Given the description of an element on the screen output the (x, y) to click on. 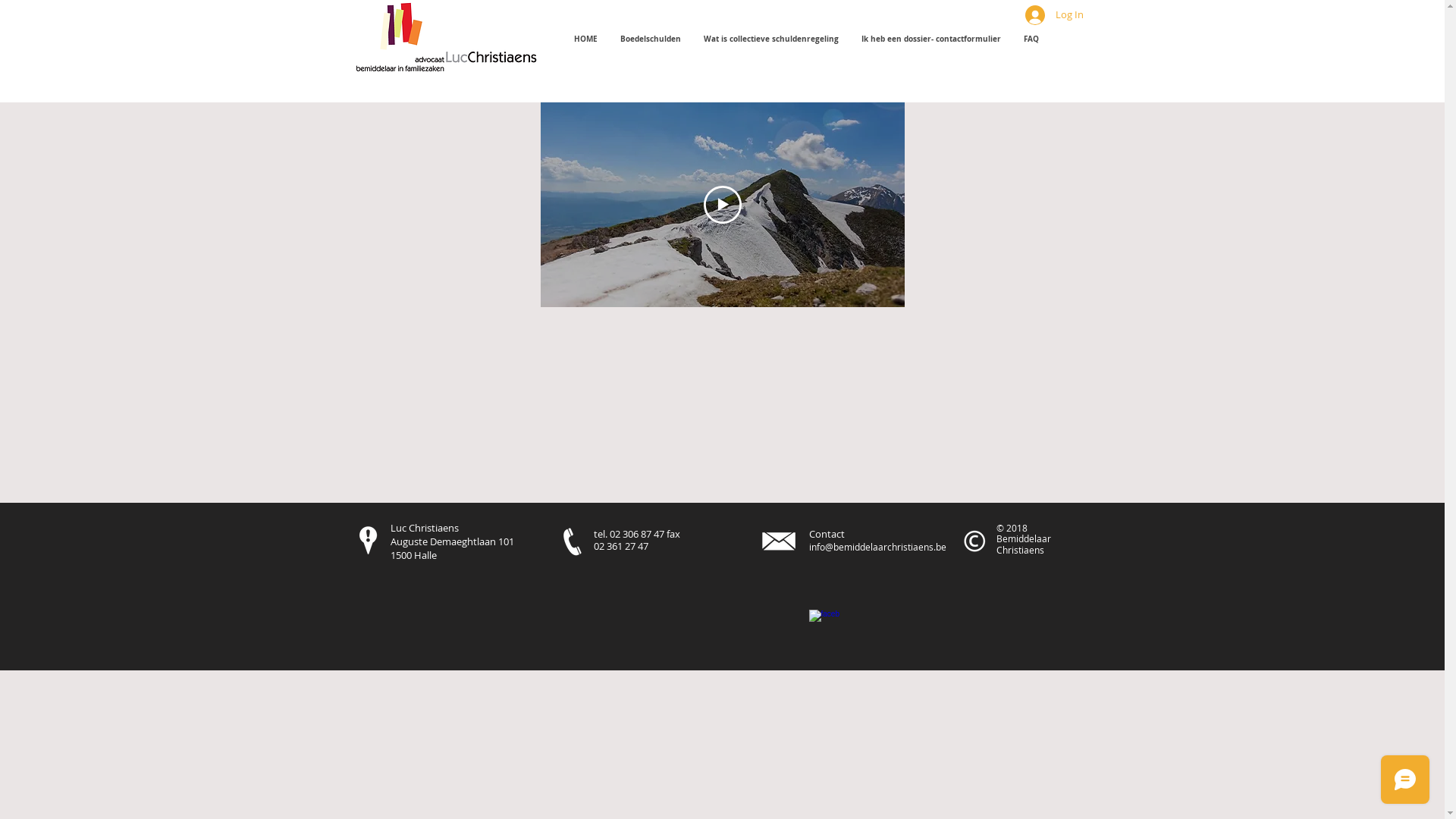
Wat is collectieve schuldenregeling Element type: text (770, 38)
Boedelschulden Element type: text (649, 38)
HOME Element type: text (585, 38)
FAQ Element type: text (1030, 38)
Log In Element type: text (1054, 14)
Ik heb een dossier- contactformulier Element type: text (930, 38)
info@bemiddelaarchristiaens.be Element type: text (876, 546)
